Given the description of an element on the screen output the (x, y) to click on. 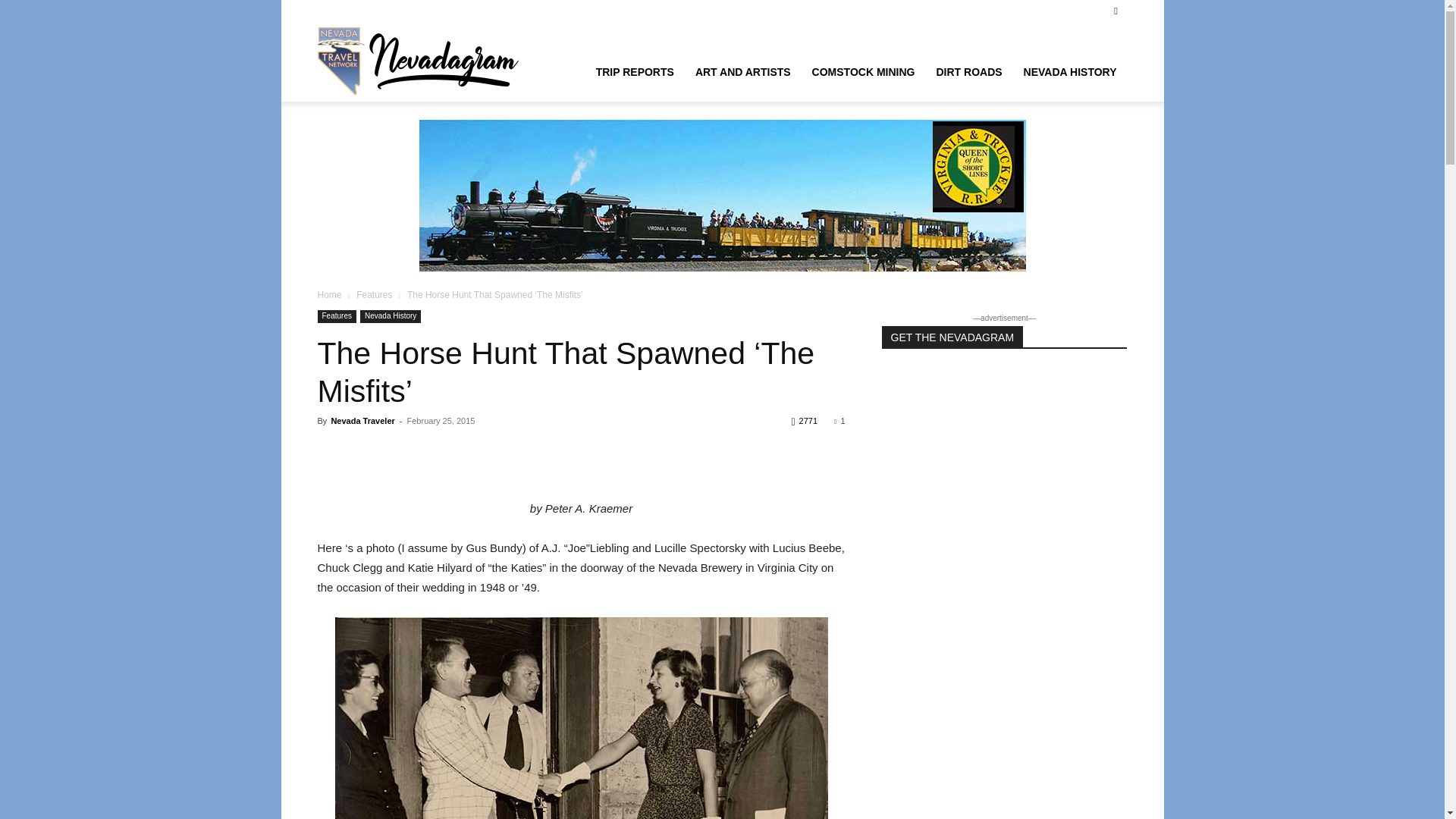
Home (328, 294)
Search (1085, 64)
ART AND ARTISTS (743, 71)
Nevada Traveler (362, 420)
NEVADA HISTORY (1069, 71)
DIRT ROADS (967, 71)
TRIP REPORTS (634, 71)
COMSTOCK MINING (864, 71)
Features (336, 316)
NevadaGram from the Nevada Travel Network (419, 61)
